Given the description of an element on the screen output the (x, y) to click on. 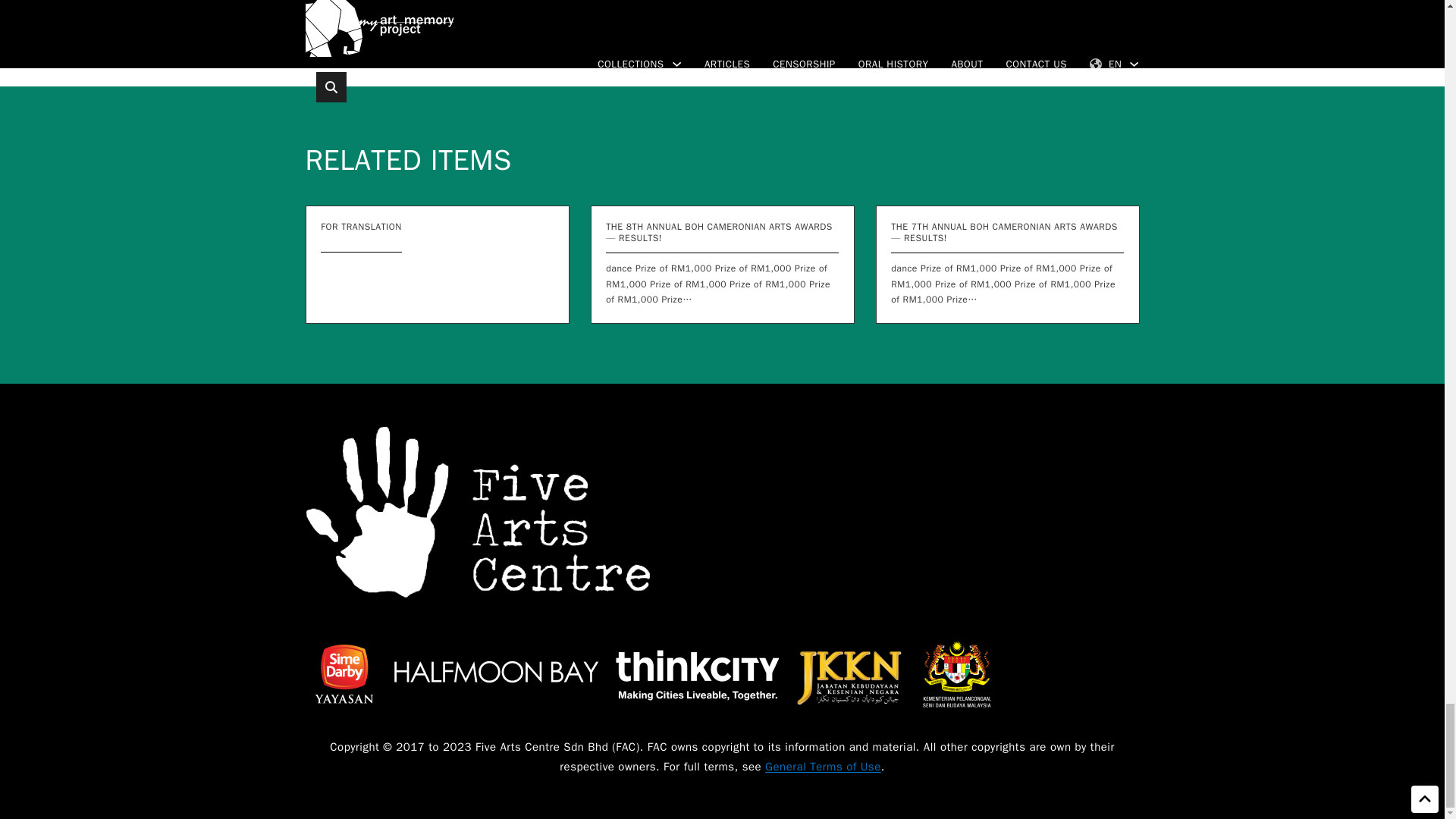
FOR TRANSLATION (360, 226)
General Terms of Use (822, 766)
W!ld Rice (549, 33)
Theatre (480, 33)
Alfian Sa'at (342, 33)
Review (417, 33)
